Given the description of an element on the screen output the (x, y) to click on. 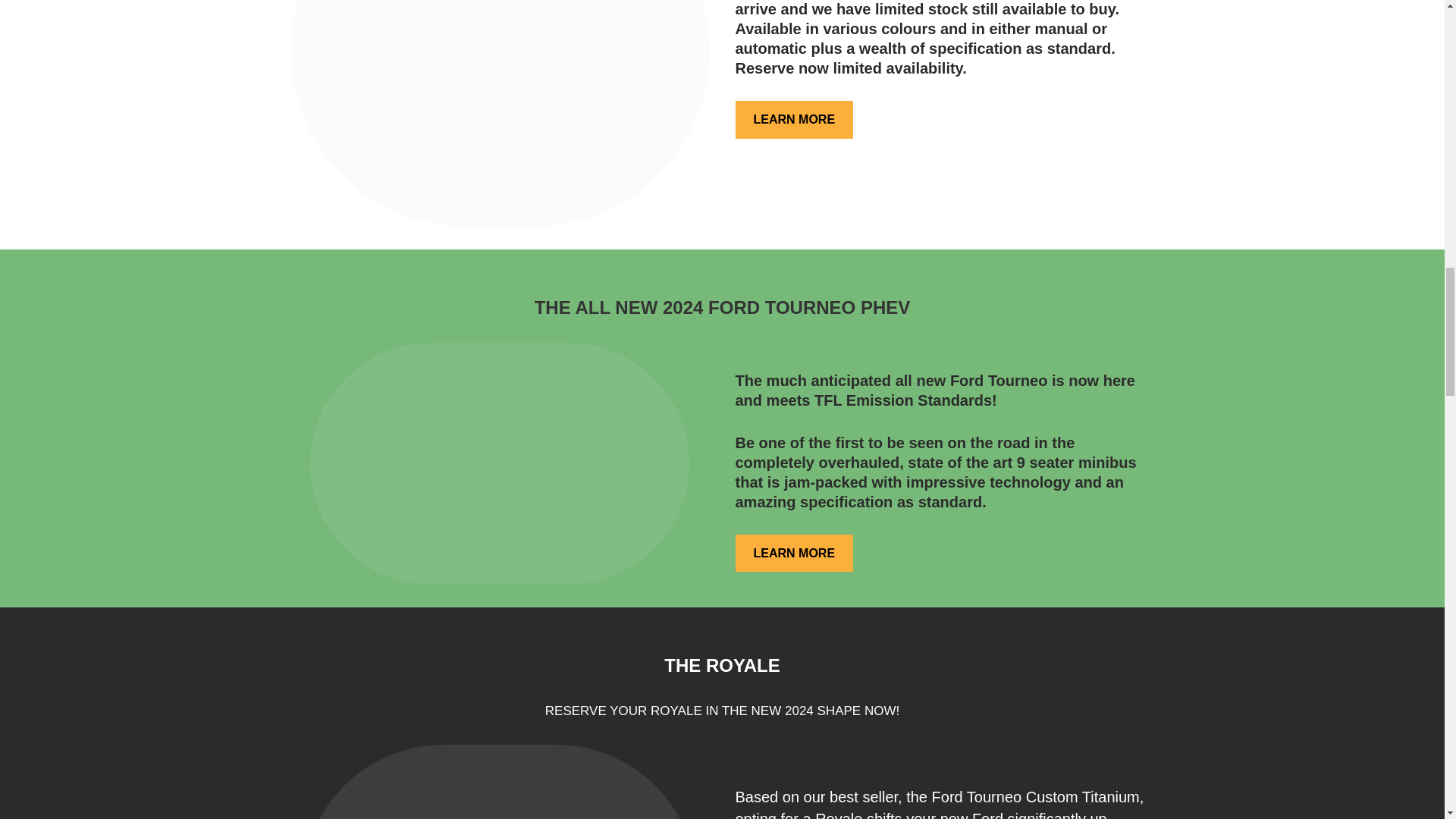
LEARN MORE (794, 119)
LEARN MORE (794, 553)
